Given the description of an element on the screen output the (x, y) to click on. 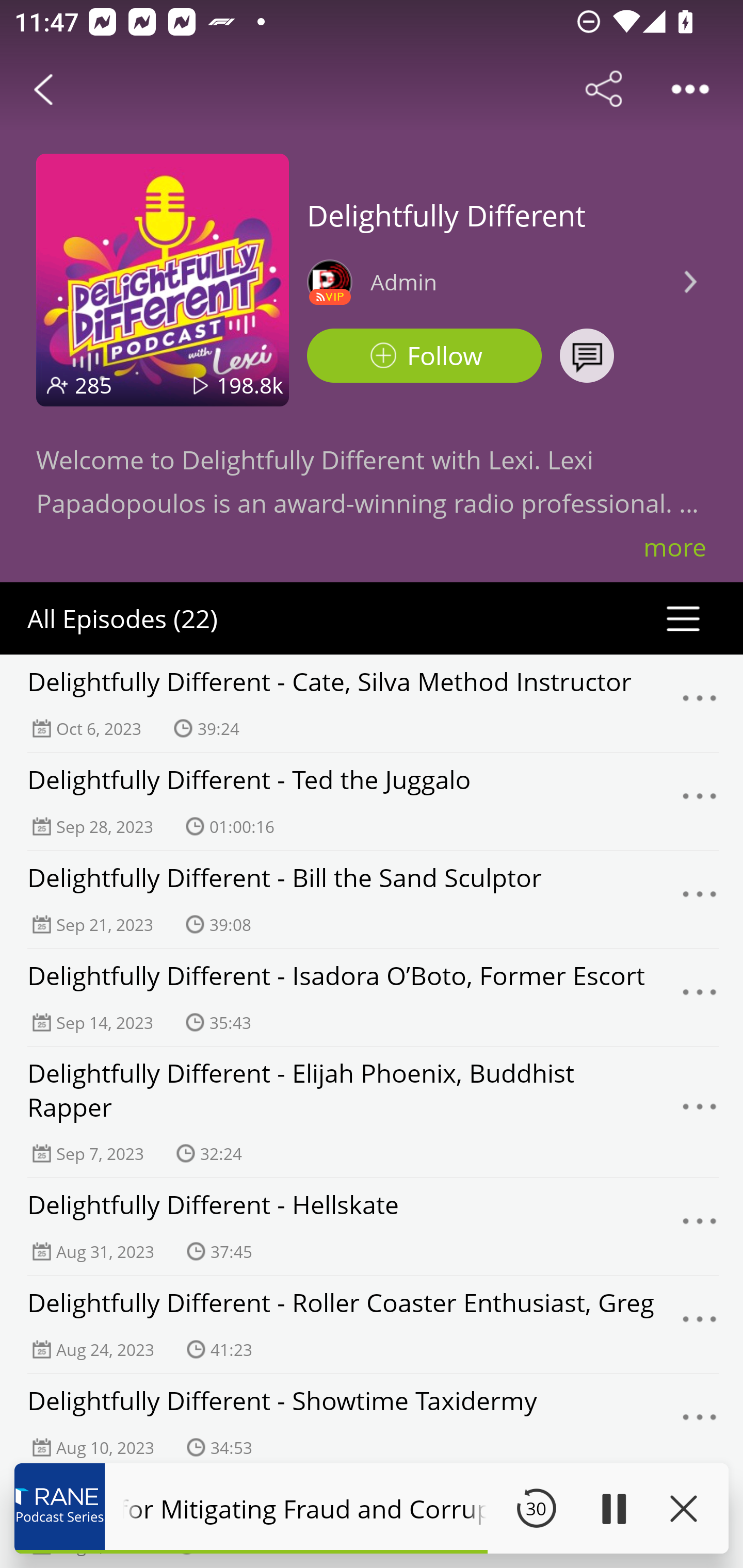
Back (43, 88)
Podbean Follow (423, 355)
285 (93, 384)
more (674, 546)
Menu (699, 703)
Menu (699, 801)
Menu (699, 899)
Menu (699, 997)
Menu (699, 1112)
Menu (699, 1226)
Menu (699, 1324)
Menu (699, 1422)
Play (613, 1507)
30 Seek Backward (536, 1508)
